Given the description of an element on the screen output the (x, y) to click on. 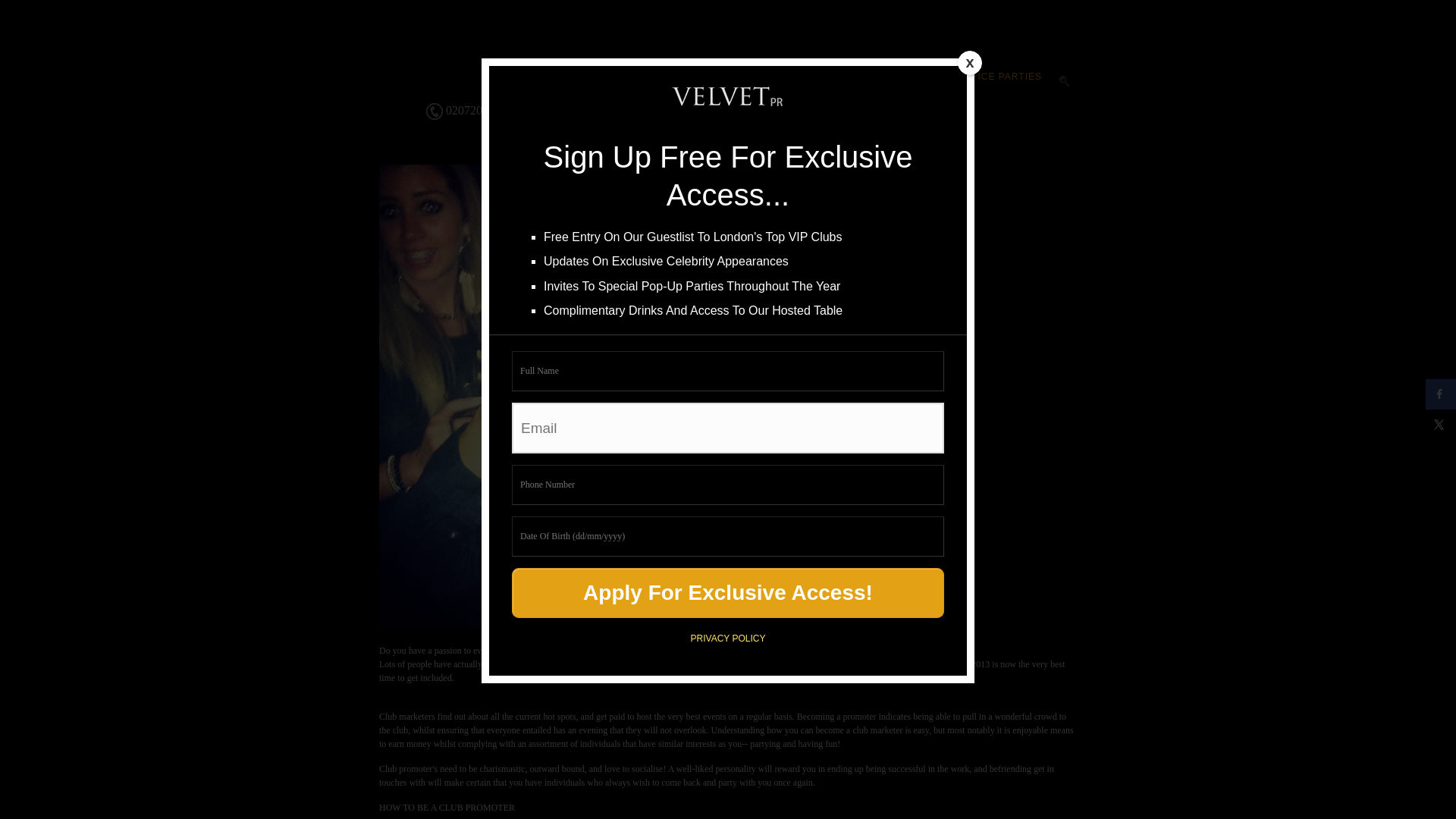
BLOG (777, 83)
GUESTLISTS (709, 83)
Close (969, 62)
BIRTHDAYS (911, 83)
THE TEAM (834, 83)
OFFICE PARTIES (999, 83)
02072052501 (469, 111)
